Given the description of an element on the screen output the (x, y) to click on. 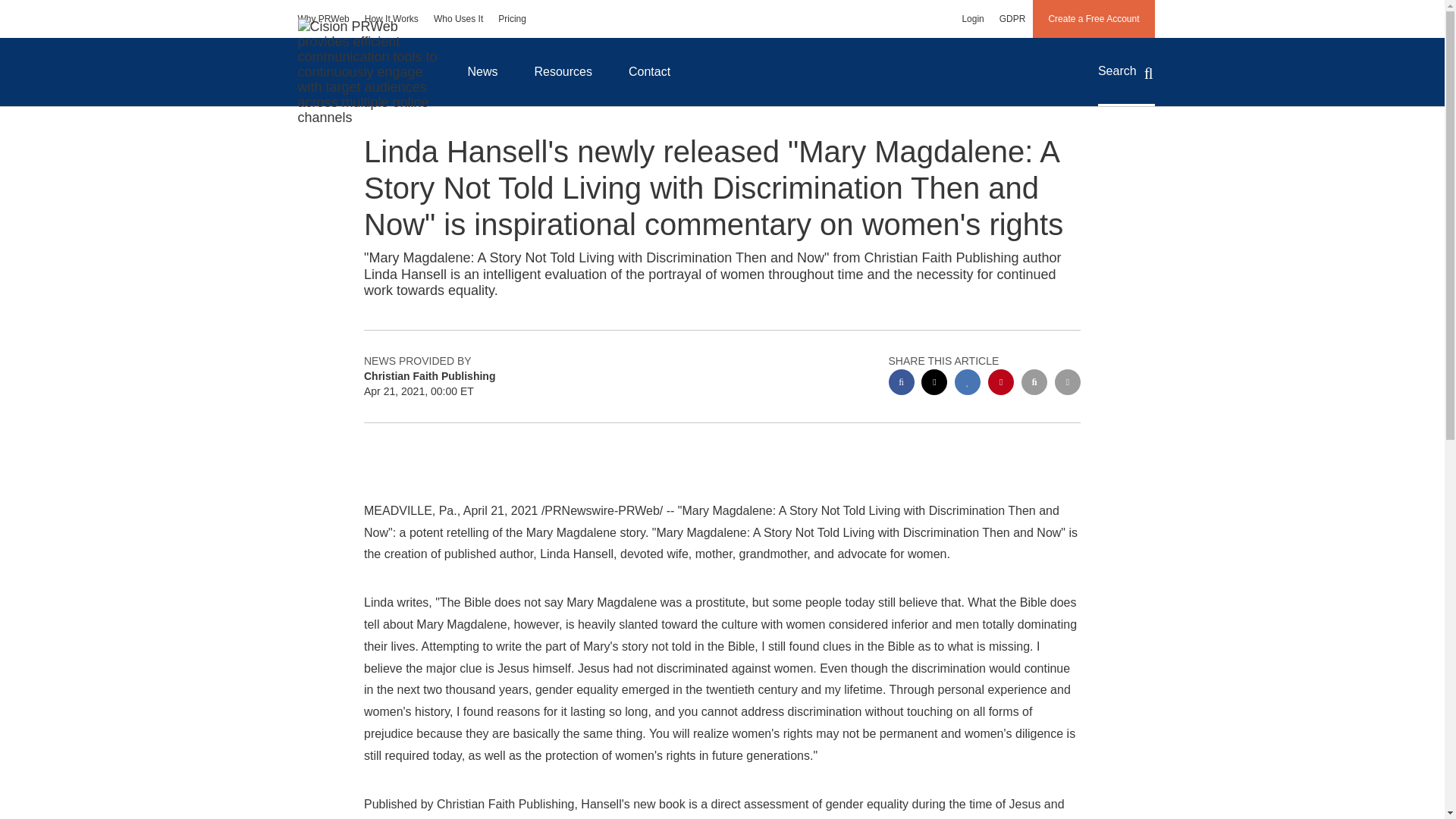
How It Works (391, 18)
Create a Free Account (1093, 18)
GDPR (1012, 18)
Why PRWeb (322, 18)
Who Uses It (458, 18)
Login (972, 18)
Contact (649, 71)
Pricing (512, 18)
Resources (563, 71)
News (481, 71)
